Given the description of an element on the screen output the (x, y) to click on. 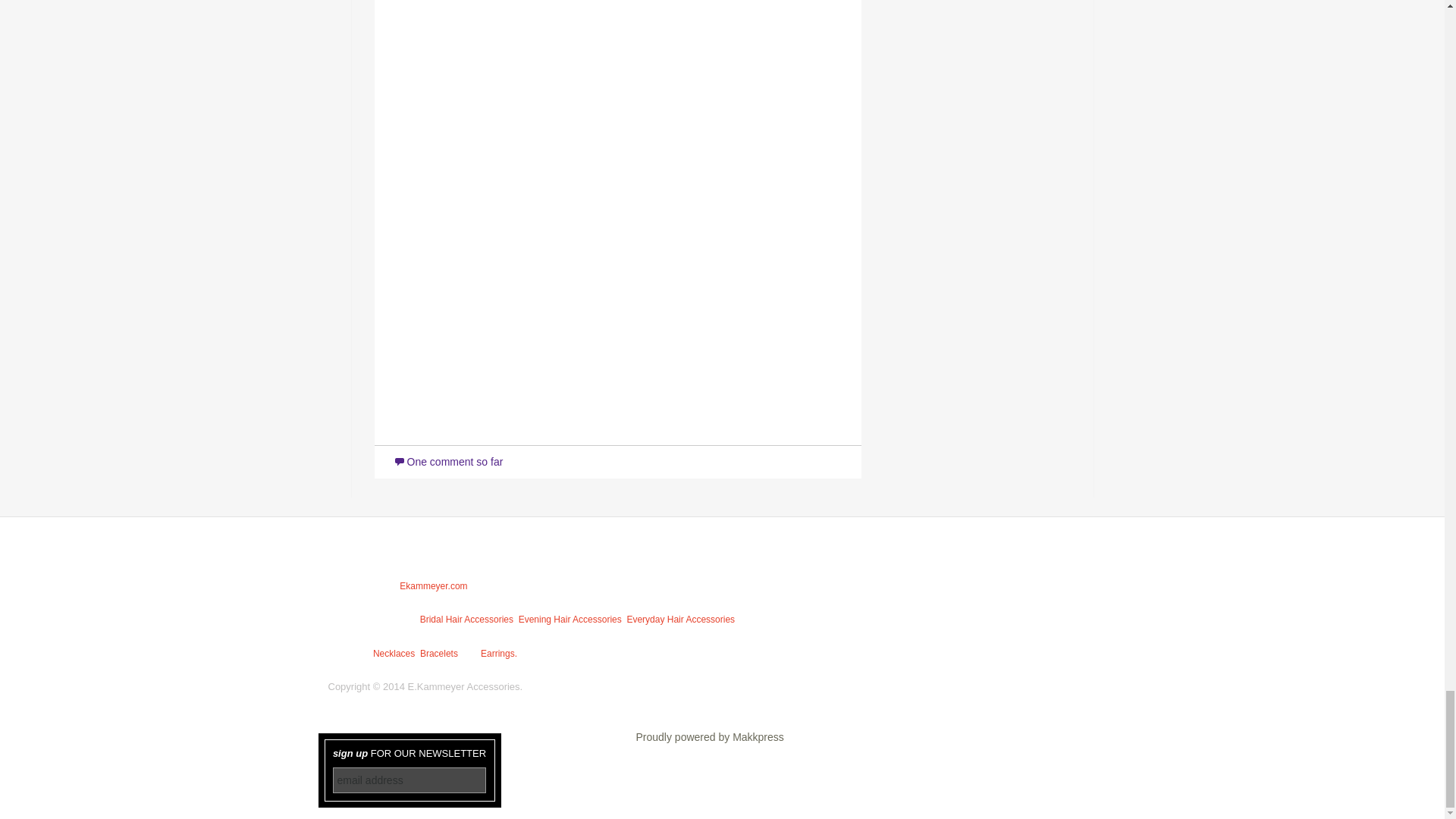
One comment so far (447, 461)
